Given the description of an element on the screen output the (x, y) to click on. 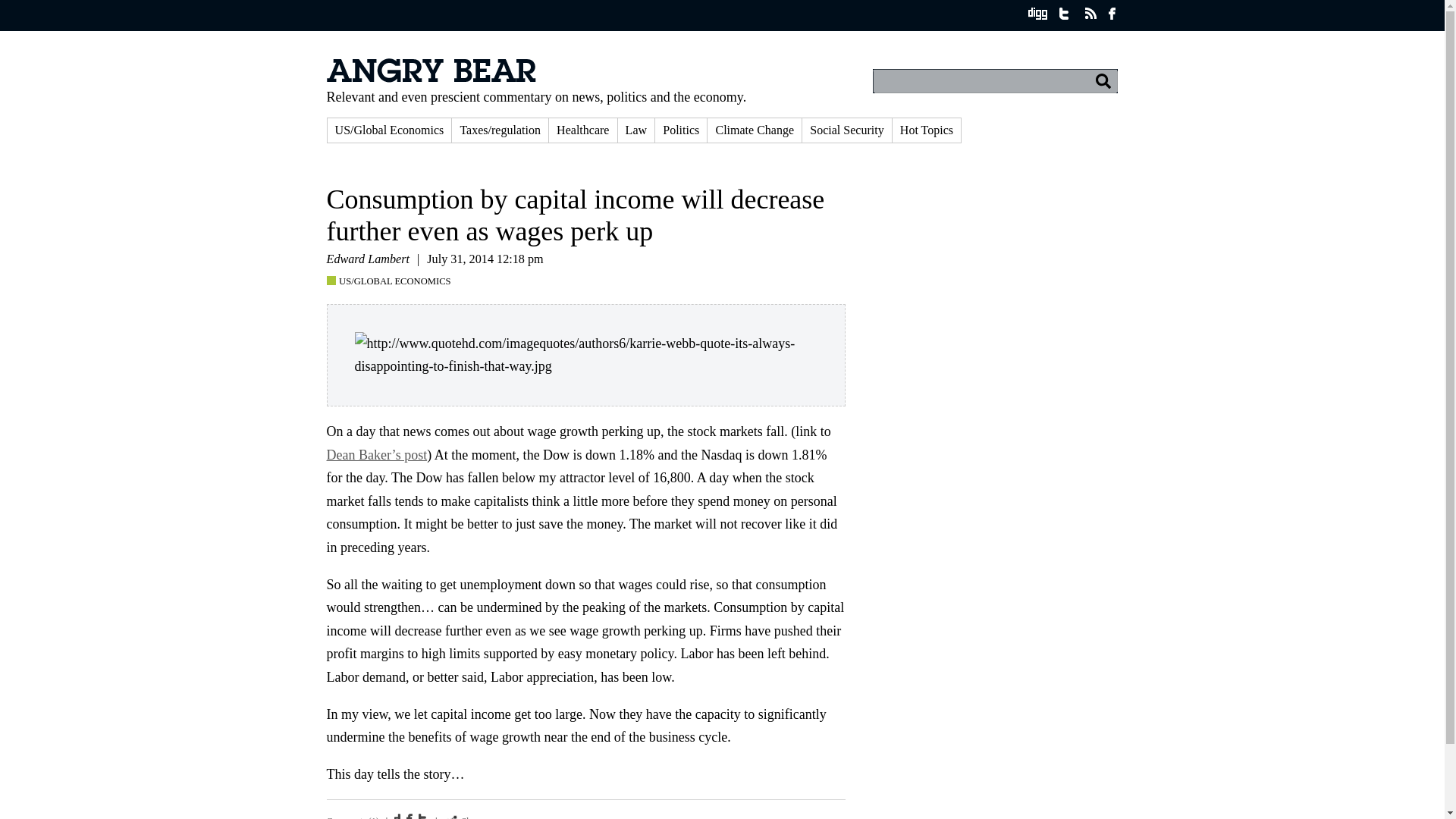
Social Security (846, 129)
Digg (399, 816)
Politics (680, 129)
Healthcare (582, 129)
Law (636, 129)
Twitter (423, 816)
Facebook (411, 816)
Climate Change (754, 129)
Hot Topics (926, 129)
